Given the description of an element on the screen output the (x, y) to click on. 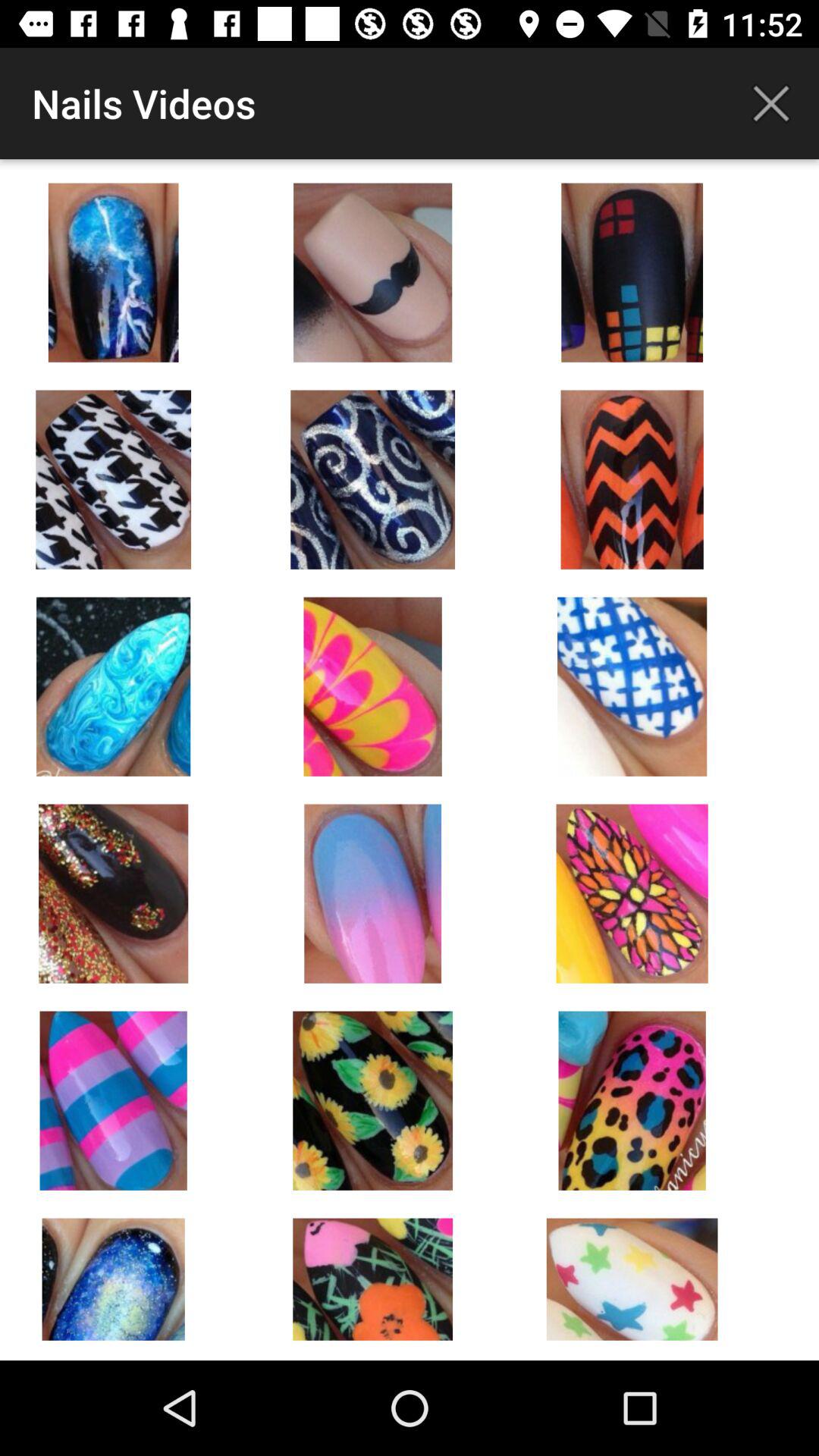
close window (771, 103)
